Given the description of an element on the screen output the (x, y) to click on. 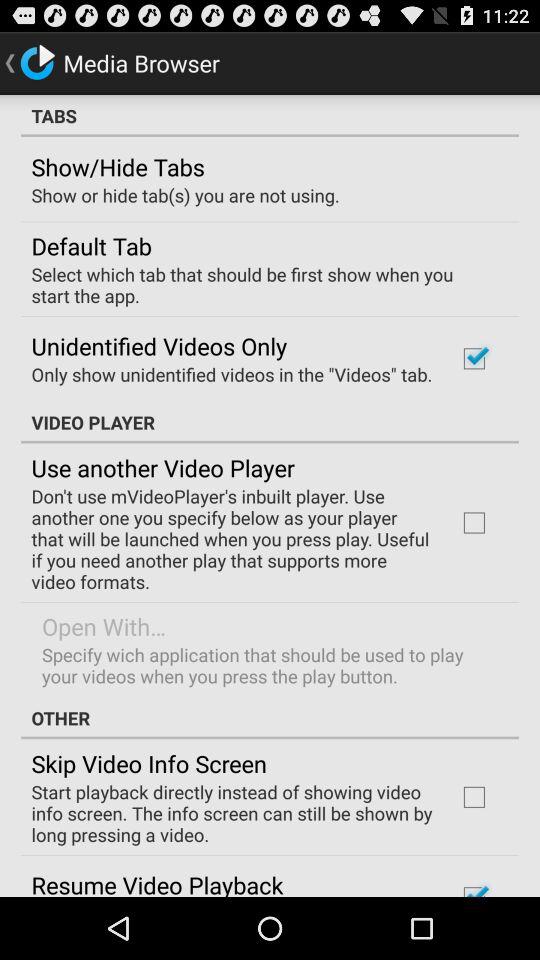
open the item above resume video playback item (231, 813)
